Given the description of an element on the screen output the (x, y) to click on. 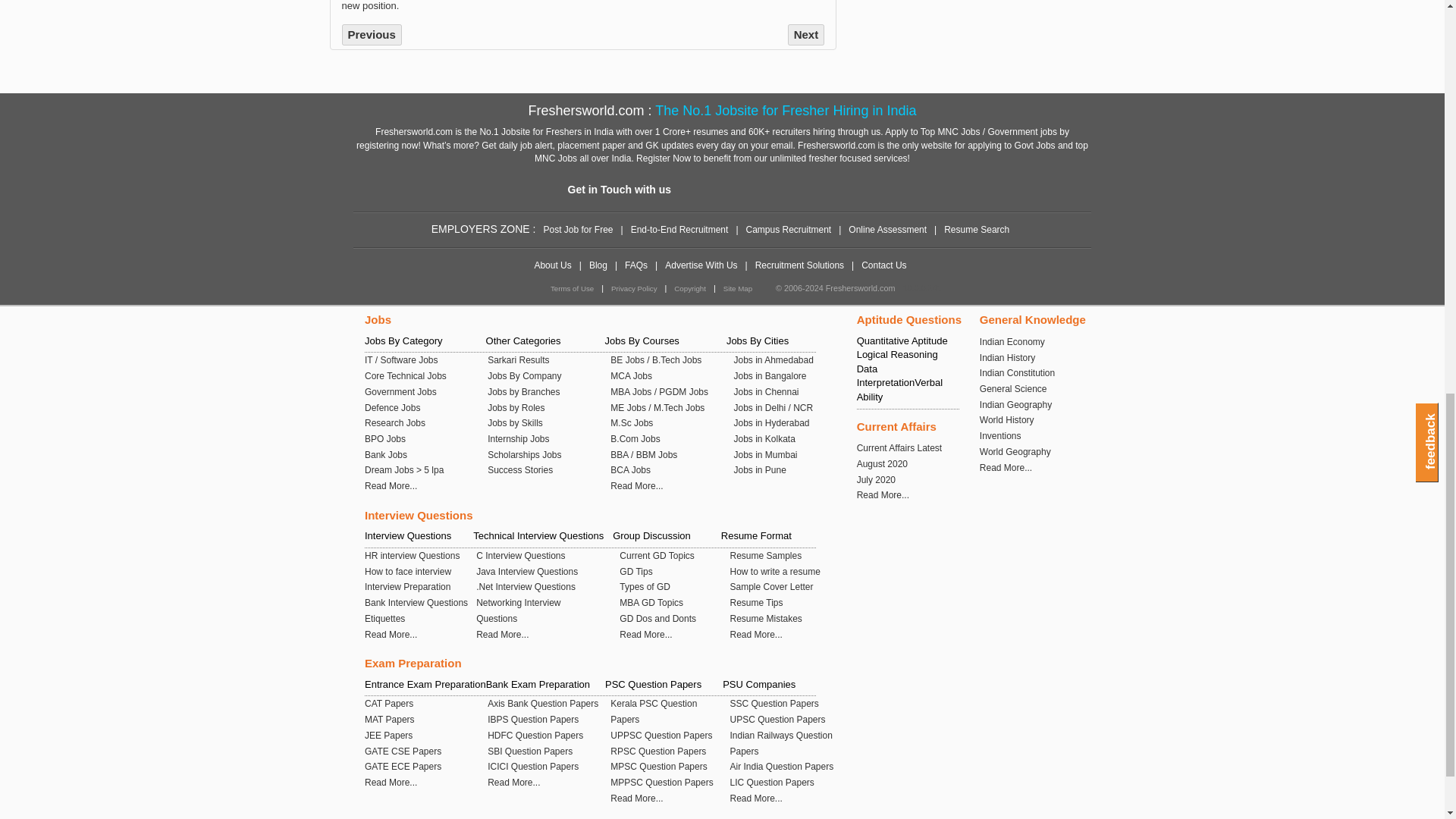
Next (806, 34)
Previous (370, 34)
